Given the description of an element on the screen output the (x, y) to click on. 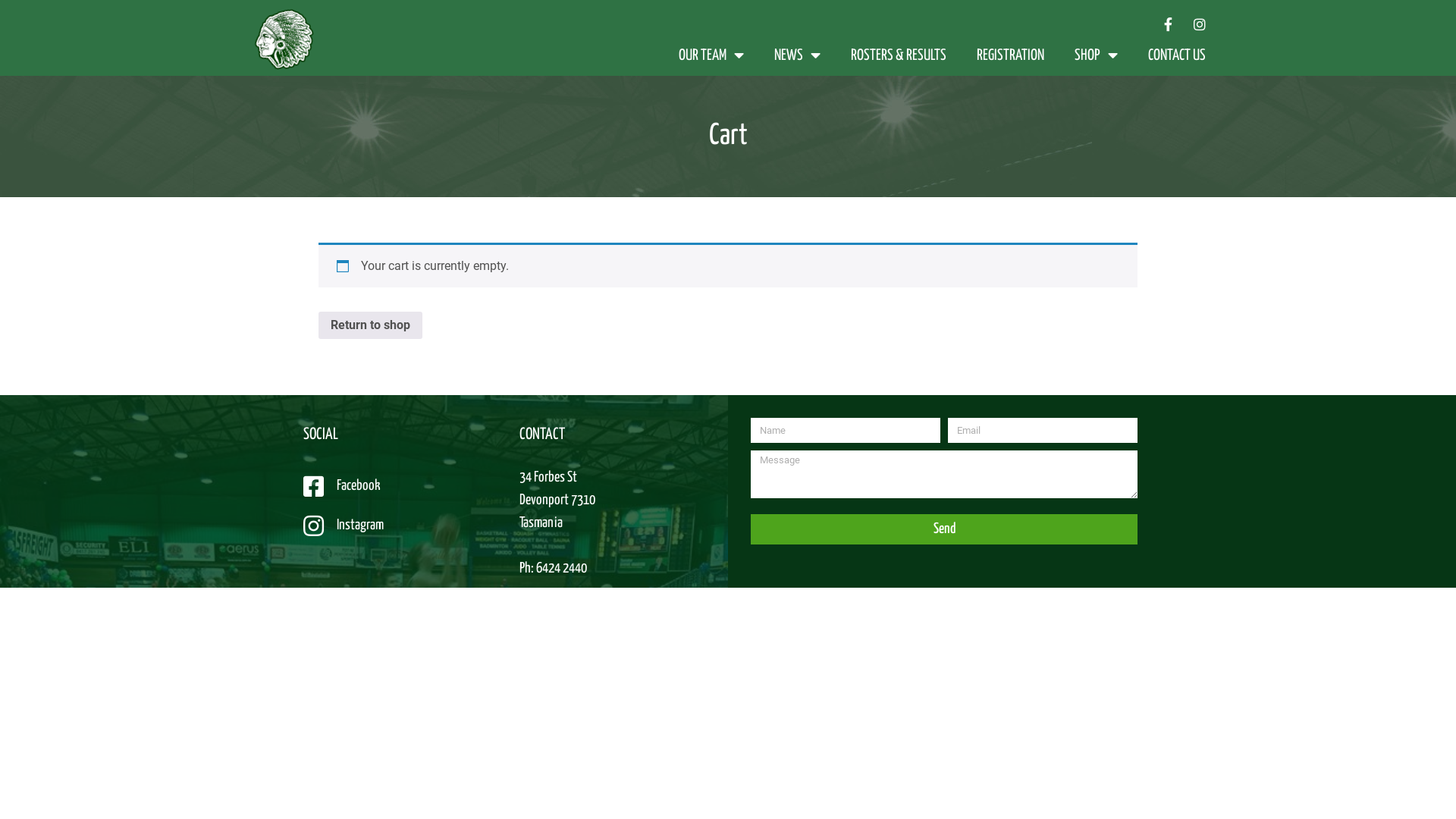
warrior_logo Element type: hover (277, 33)
Instagram Element type: text (403, 525)
Send Element type: text (943, 529)
ROSTERS & RESULTS Element type: text (898, 55)
Facebook Element type: text (403, 485)
NEWS Element type: text (797, 55)
REGISTRATION Element type: text (1010, 55)
SHOP Element type: text (1095, 55)
OUR TEAM Element type: text (711, 55)
Return to shop Element type: text (370, 324)
CONTACT US Element type: text (1176, 55)
